Given the description of an element on the screen output the (x, y) to click on. 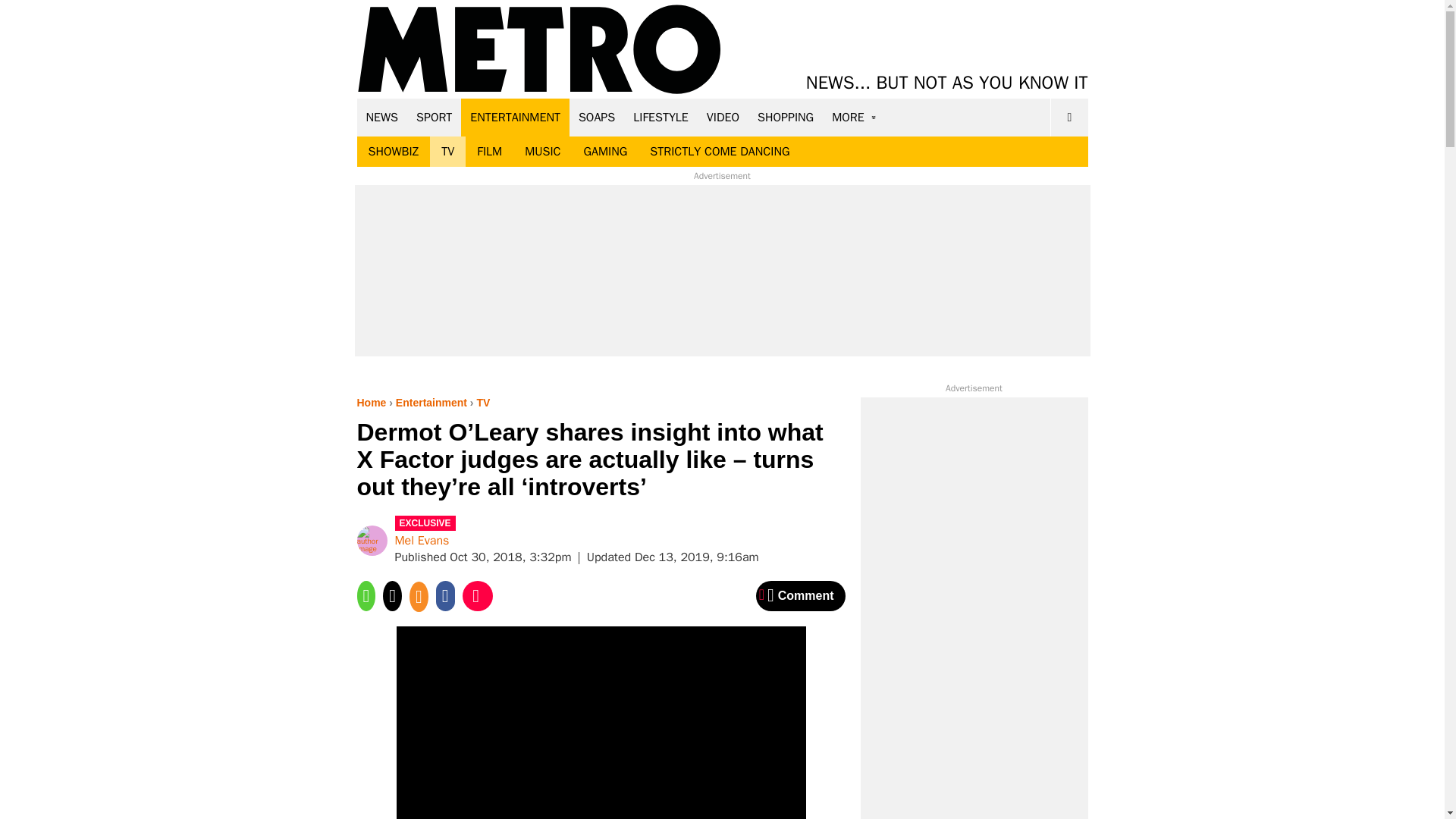
TV (447, 151)
SPORT (434, 117)
SHOWBIZ (392, 151)
Metro (539, 50)
LIFESTYLE (660, 117)
ENTERTAINMENT (515, 117)
FILM (489, 151)
SOAPS (596, 117)
NEWS (381, 117)
GAMING (605, 151)
